Given the description of an element on the screen output the (x, y) to click on. 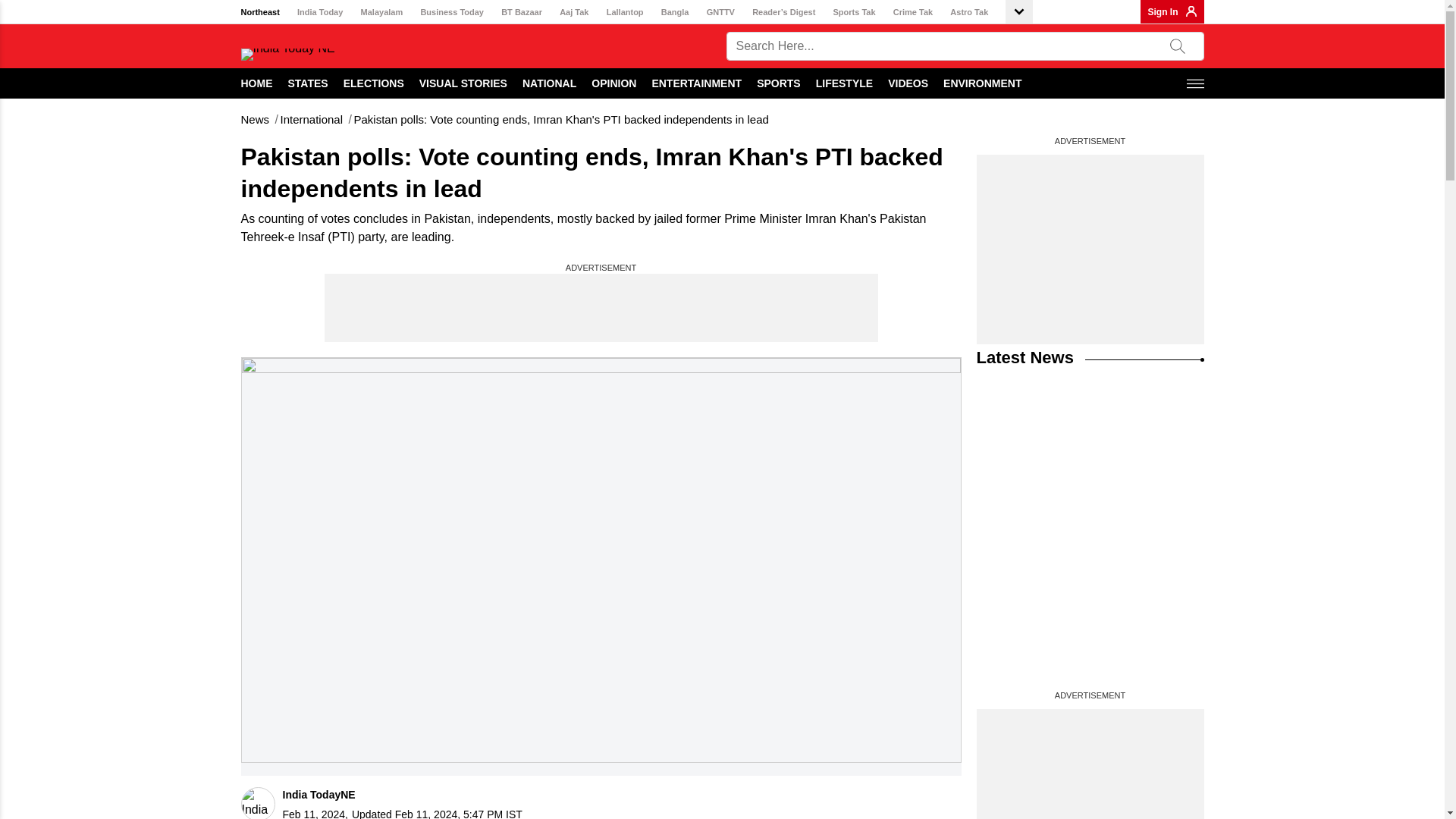
Bangla (674, 12)
Business Today (451, 12)
ENTERTAINMENT (695, 82)
STATES (308, 82)
Northeast (260, 12)
Lallantop (625, 12)
HOME (257, 82)
GNTTV (720, 12)
Business Today (451, 12)
Malayalam (382, 12)
GNTTV (720, 12)
Lallantop (625, 12)
Crime Tak (913, 12)
Crime Tak (913, 12)
VISUAL STORIES (462, 82)
